Given the description of an element on the screen output the (x, y) to click on. 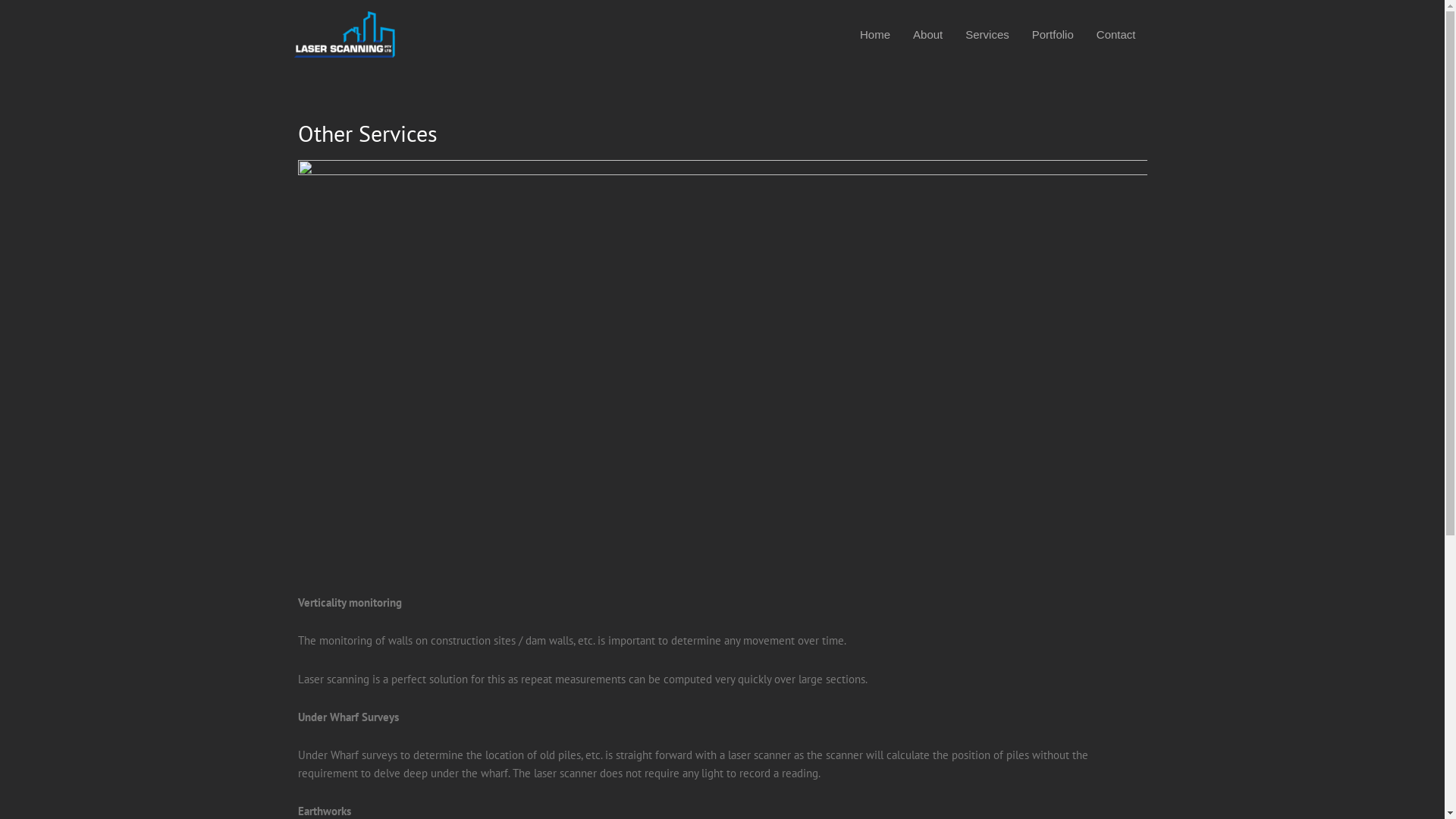
Contact Element type: text (1116, 34)
Home Element type: text (874, 34)
Portfolio Element type: text (1052, 34)
About Element type: text (927, 34)
Services Element type: text (986, 34)
